Given the description of an element on the screen output the (x, y) to click on. 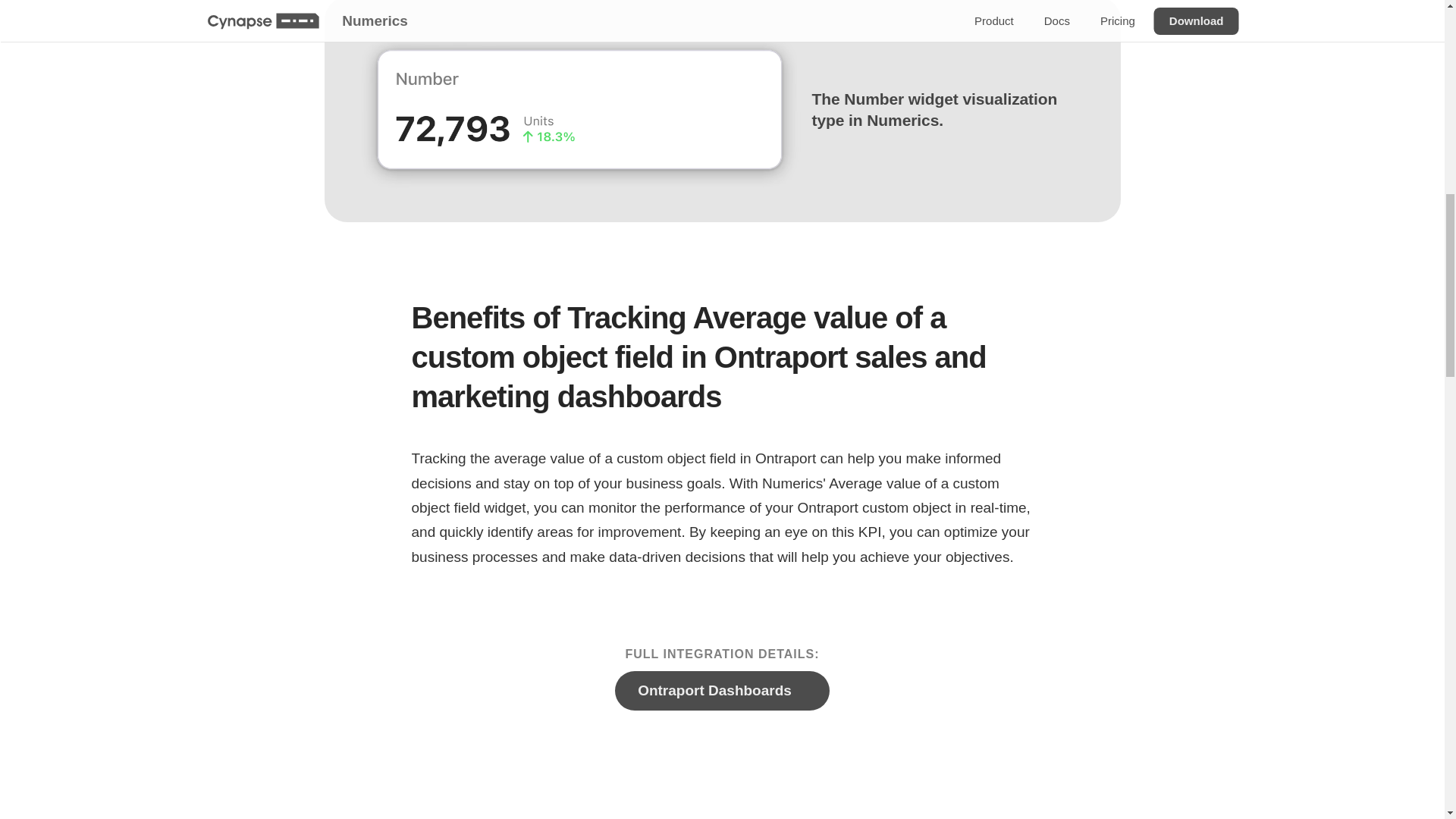
Ontraport Dashboards (721, 690)
